Given the description of an element on the screen output the (x, y) to click on. 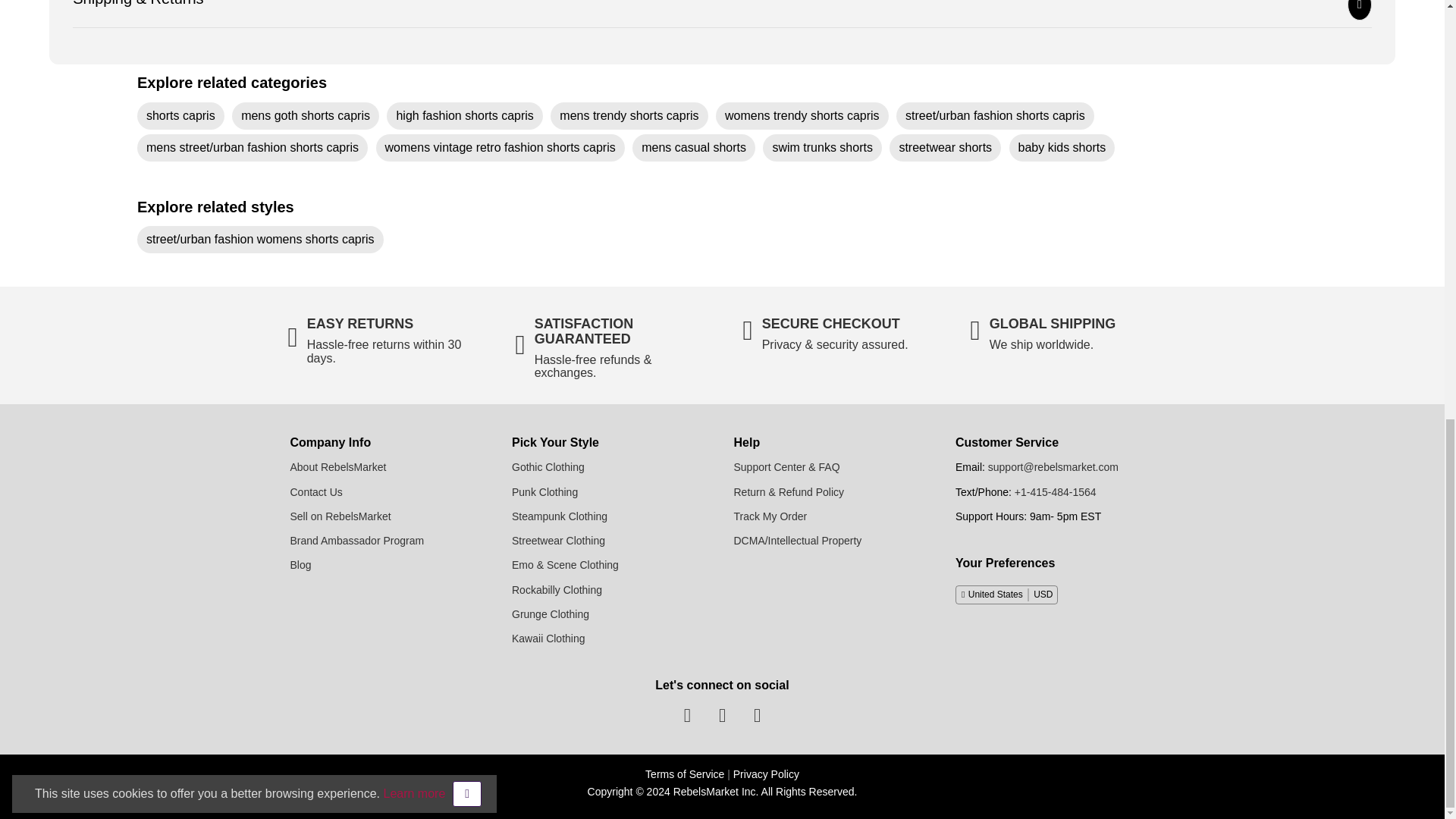
Contact Us (315, 491)
facebook (687, 714)
instagram (757, 714)
About Us  (337, 467)
pinterest (722, 714)
